Given the description of an element on the screen output the (x, y) to click on. 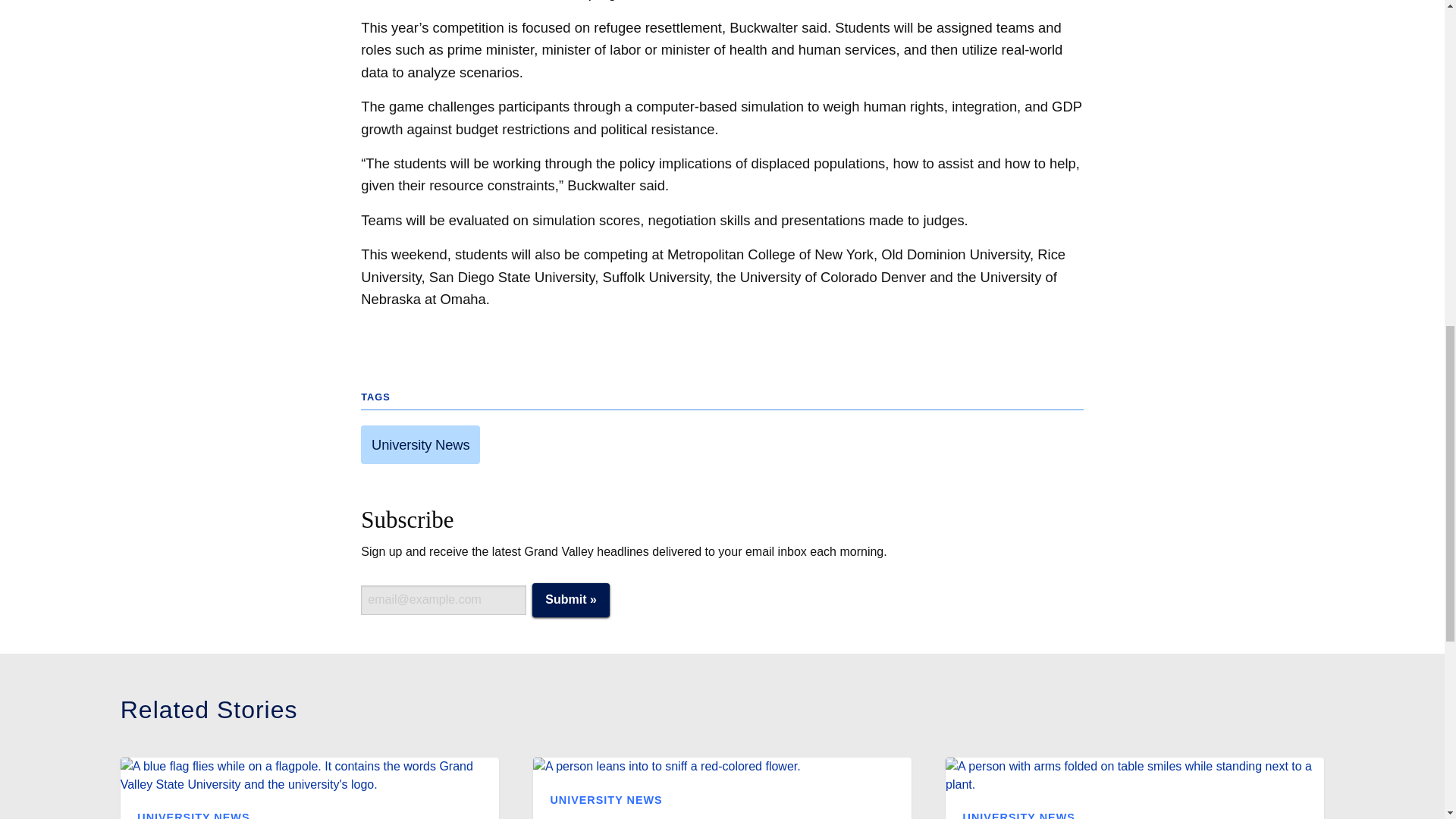
University News (420, 444)
UNIVERSITY NEWS (192, 815)
UNIVERSITY NEWS (606, 799)
UNIVERSITY NEWS (1018, 815)
